Given the description of an element on the screen output the (x, y) to click on. 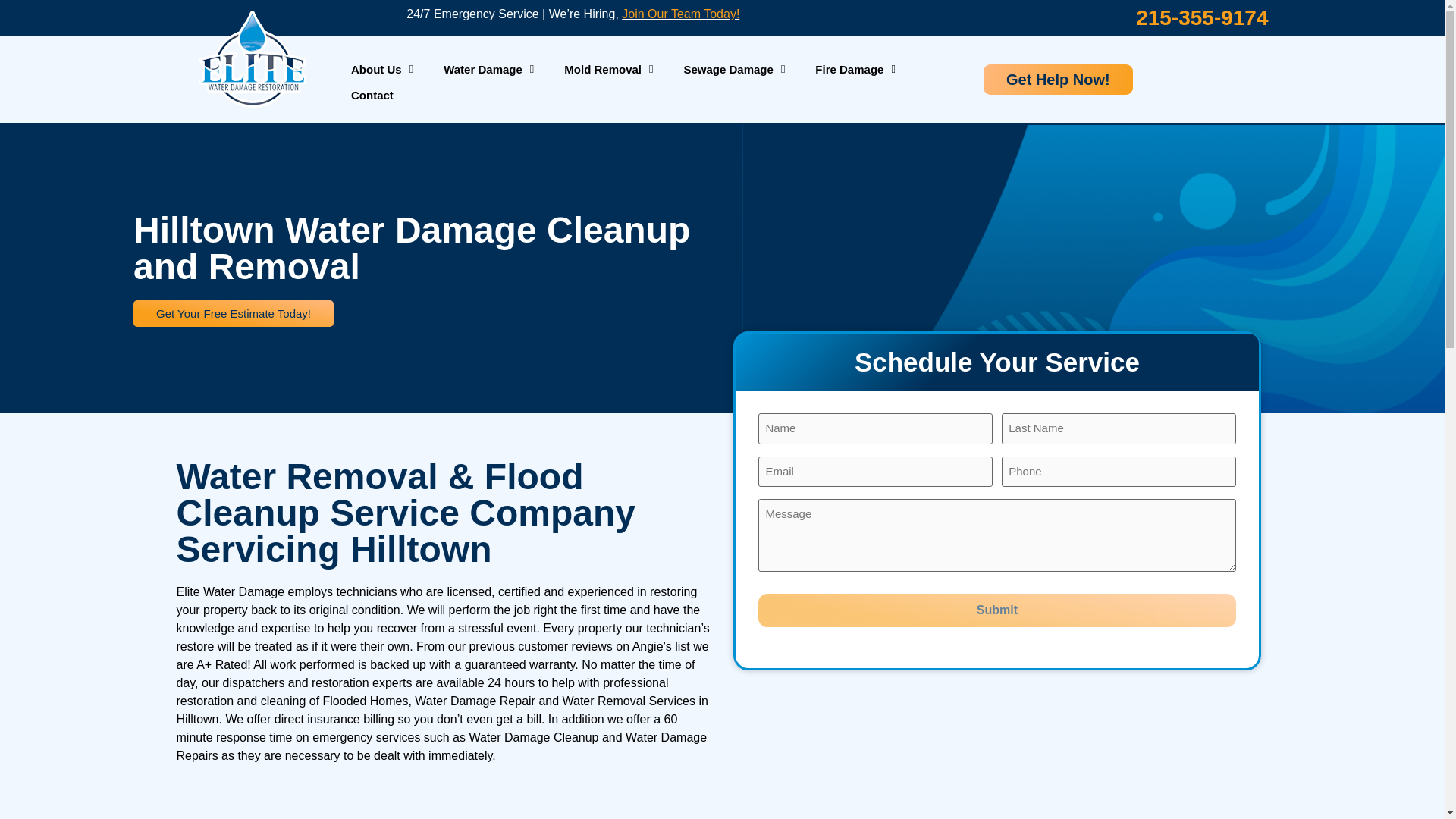
About Us (382, 69)
Water Damage (488, 69)
Contact (372, 95)
Fire Damage (855, 69)
Submit (996, 610)
Mold Removal (608, 69)
Sewage Damage (733, 69)
Join Our Team Today! (680, 13)
215-355-9174 (1201, 17)
